Given the description of an element on the screen output the (x, y) to click on. 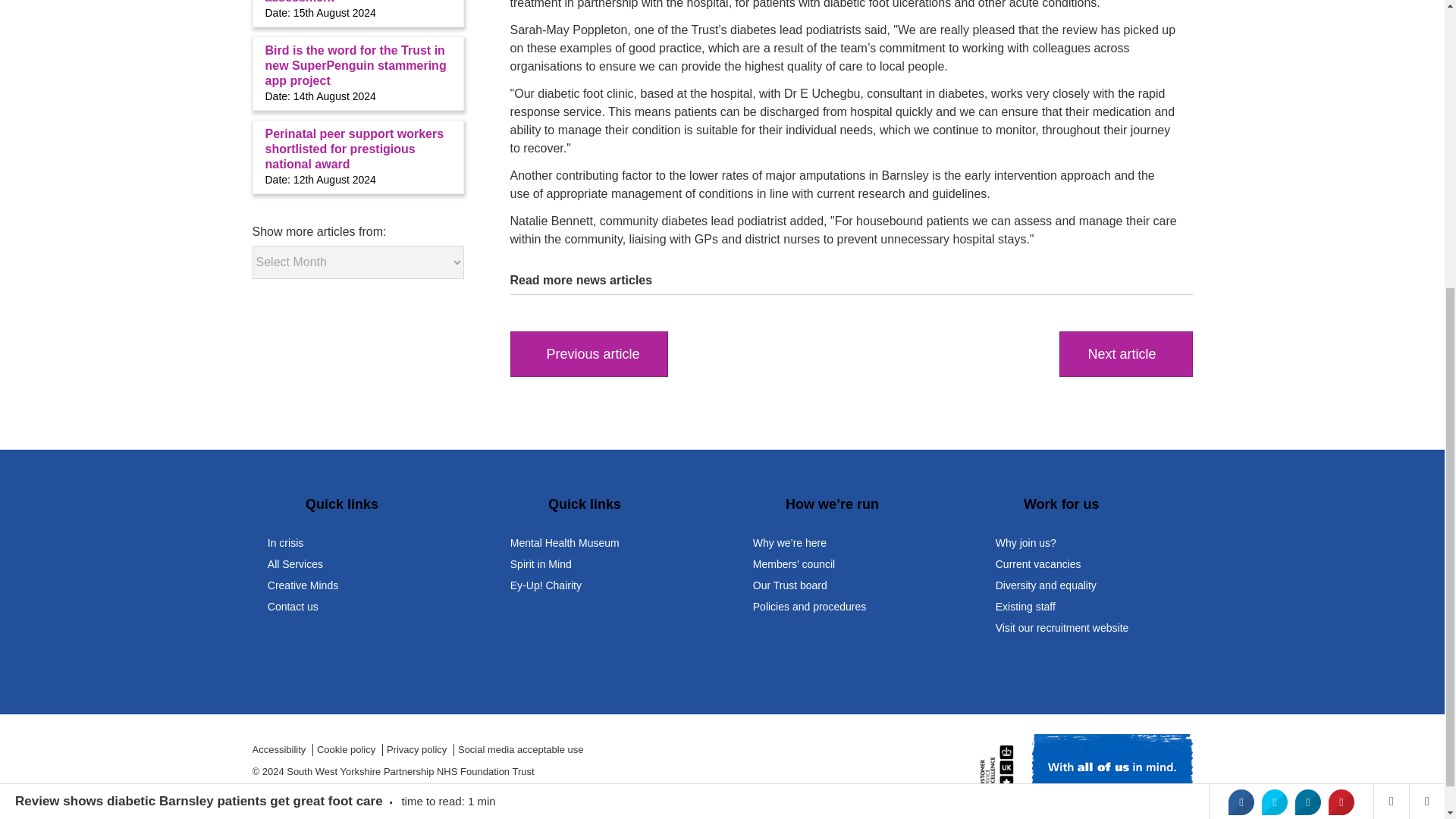
Share on Facebook (1240, 346)
Share on Twitter (1274, 346)
Share on Linkedin (1307, 346)
Share on Pinterest (1340, 346)
